Given the description of an element on the screen output the (x, y) to click on. 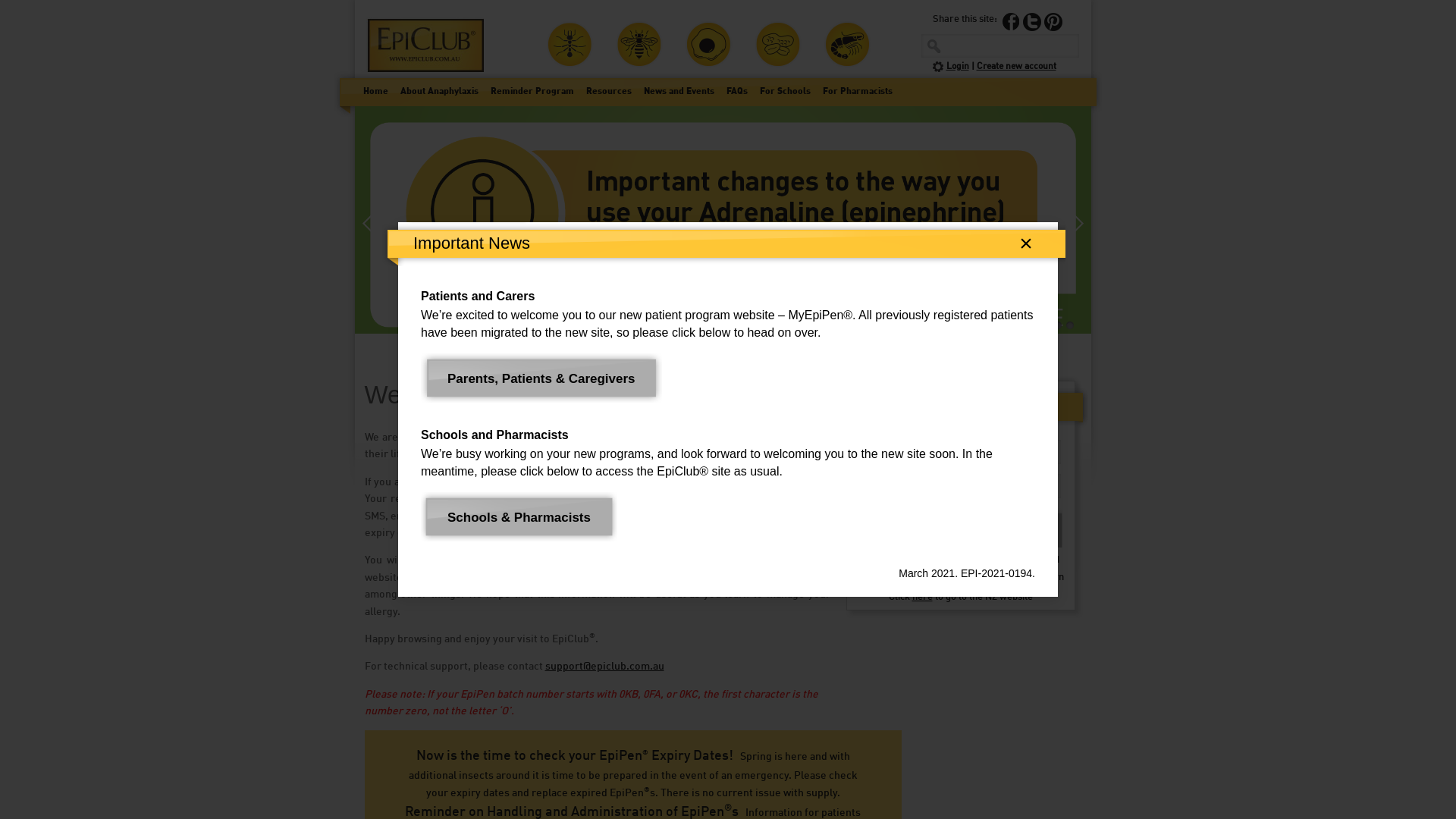
Home Element type: text (374, 91)
here Element type: text (921, 597)
Reminder Program Element type: text (531, 91)
Parents, Patients & Caregivers Element type: text (541, 378)
Create new account Element type: text (1016, 66)
support@epiclub.com.au Element type: text (603, 666)
Create new account Element type: text (904, 559)
About Anaphylaxis Element type: text (439, 91)
Resources Element type: text (607, 91)
Schools & Pharmacists Element type: text (518, 517)
For Pharmacists Element type: text (856, 91)
LOG IN Element type: text (959, 527)
For Schools Element type: text (784, 91)
Login Element type: text (957, 66)
epiclub.co.nz Element type: text (1010, 587)
Request new password Element type: text (1008, 559)
FAQs Element type: text (736, 91)
News and Events Element type: text (678, 91)
